Given the description of an element on the screen output the (x, y) to click on. 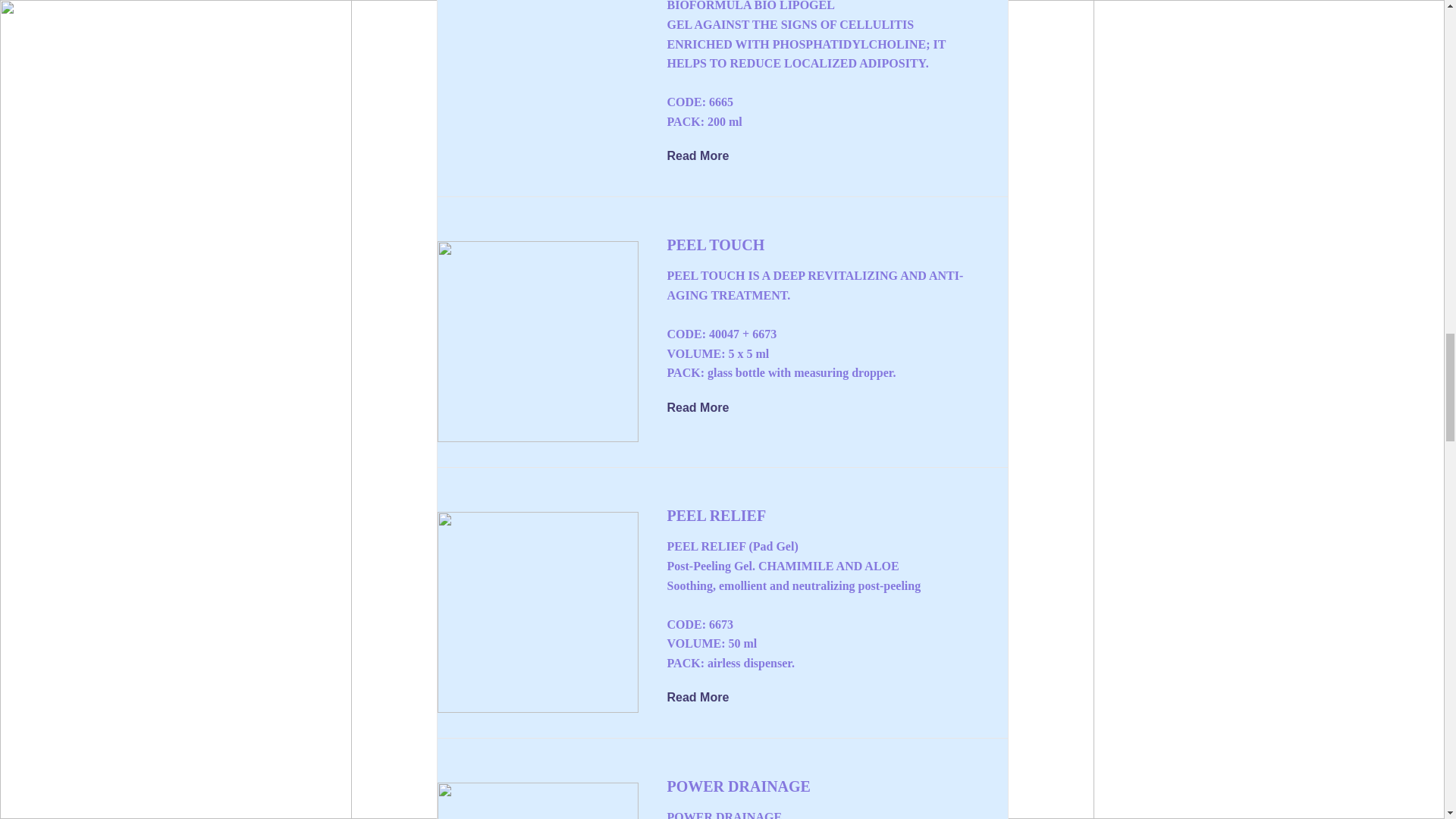
Read More (707, 698)
Read More (707, 407)
Read More (707, 156)
POWER DRAINAGE.webp (536, 800)
